Given the description of an element on the screen output the (x, y) to click on. 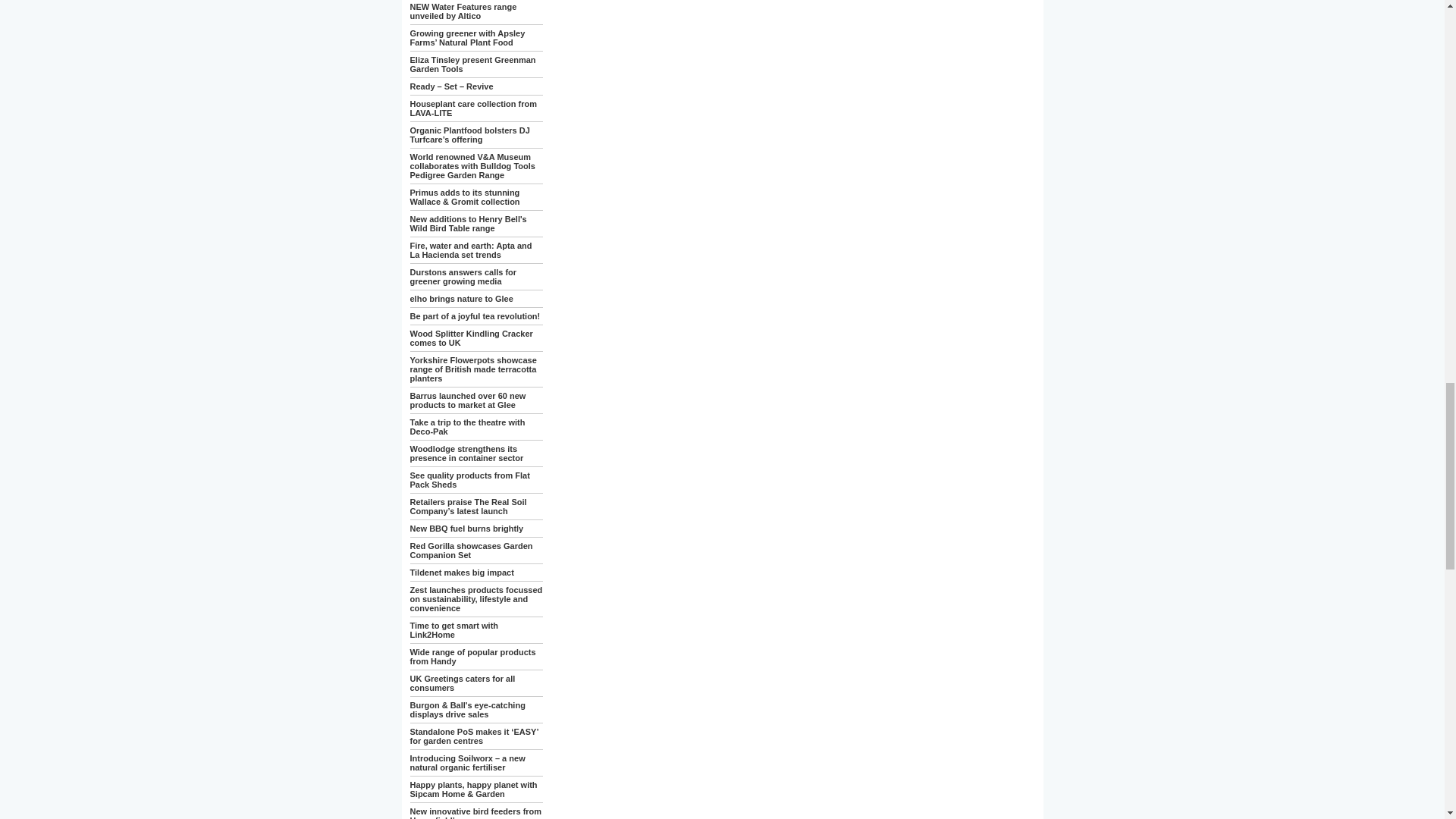
Eliza Tinsley present Greenman Garden Tools (472, 63)
Houseplant care collection from LAVA-LITE (472, 107)
NEW Water Features range unveiled by Altico (462, 10)
